Given the description of an element on the screen output the (x, y) to click on. 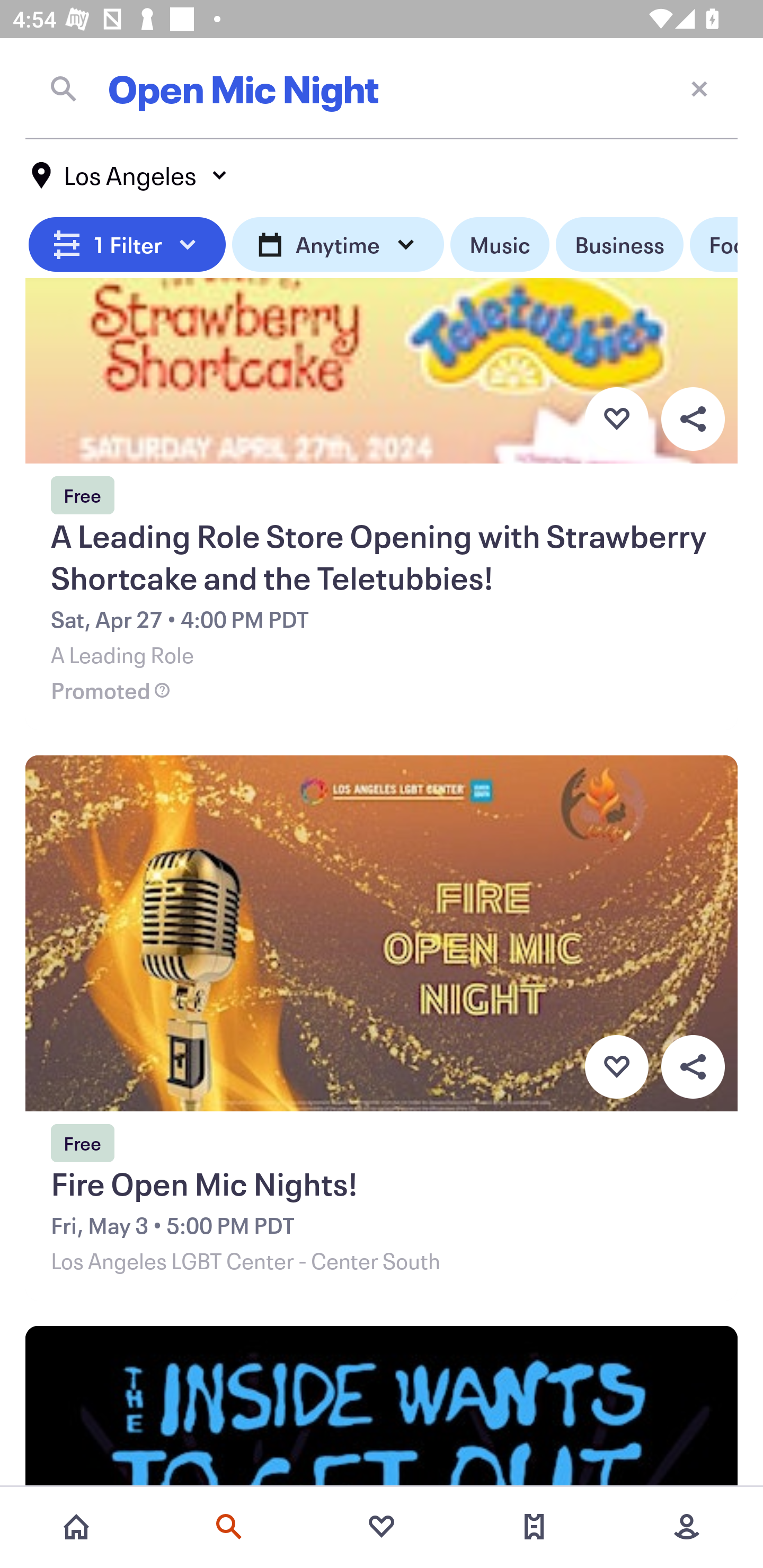
Open Mic Night Close current screen (381, 88)
Close current screen (699, 88)
Los Angeles (130, 175)
Favorite button (616, 419)
Overflow menu button (692, 419)
Favorite button (616, 1066)
Overflow menu button (692, 1066)
Home (76, 1526)
Search events (228, 1526)
Favorites (381, 1526)
Tickets (533, 1526)
More (686, 1526)
